Given the description of an element on the screen output the (x, y) to click on. 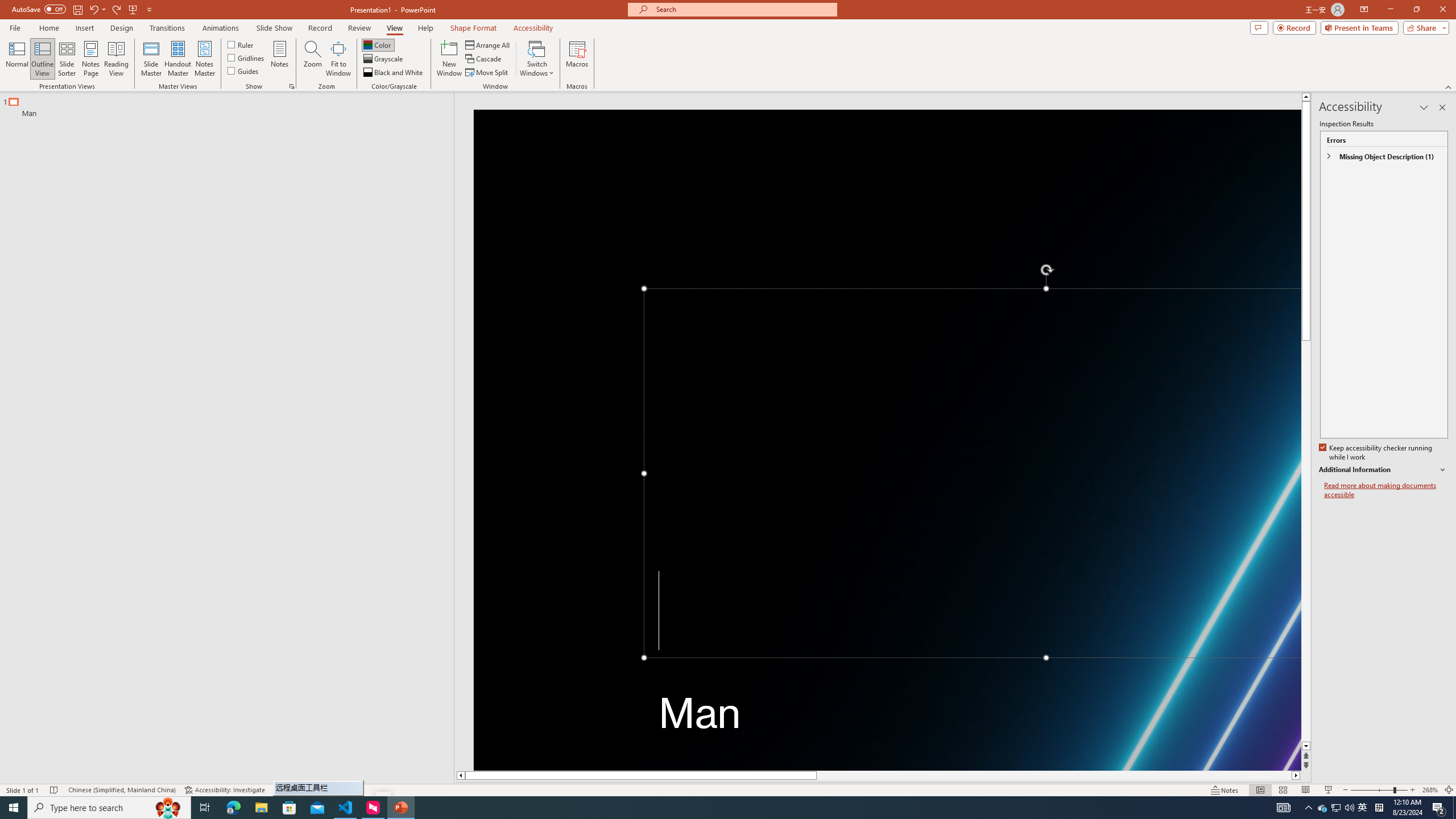
Macros (576, 58)
Ruler (241, 44)
